Given the description of an element on the screen output the (x, y) to click on. 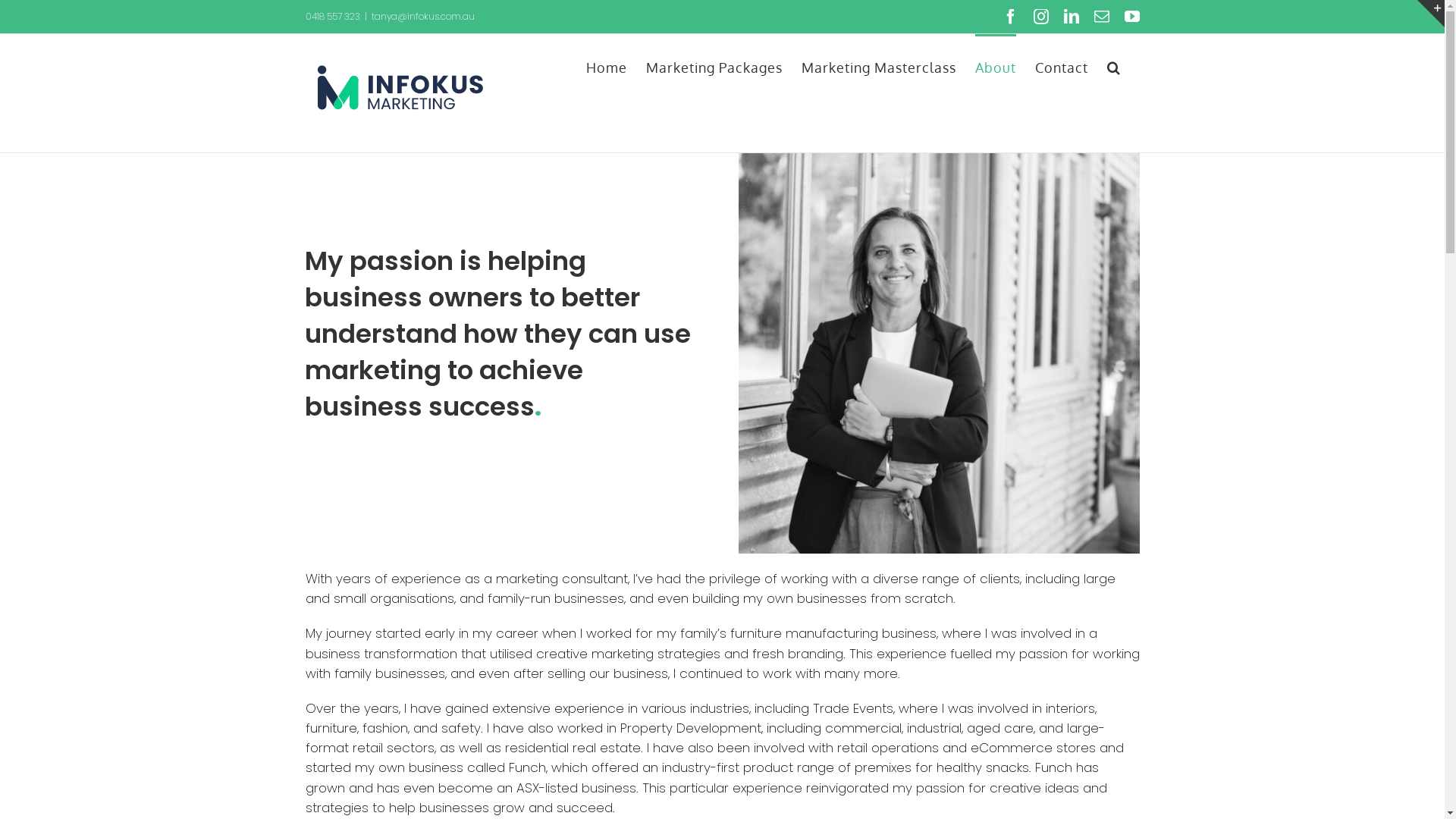
Email Element type: text (1100, 16)
Facebook Element type: text (1009, 16)
Marketing Packages Element type: text (714, 65)
YouTube Element type: text (1131, 16)
Contact Element type: text (1060, 65)
LinkedIn Element type: text (1070, 16)
Toggle Sliding Bar Area Element type: text (1430, 13)
Search Element type: hover (1113, 65)
ThankYouForRegistering Element type: hover (938, 353)
Instagram Element type: text (1040, 16)
Home Element type: text (605, 65)
Marketing Masterclass Element type: text (877, 65)
tanya@infokus.com.au Element type: text (422, 15)
About Element type: text (995, 65)
